Given the description of an element on the screen output the (x, y) to click on. 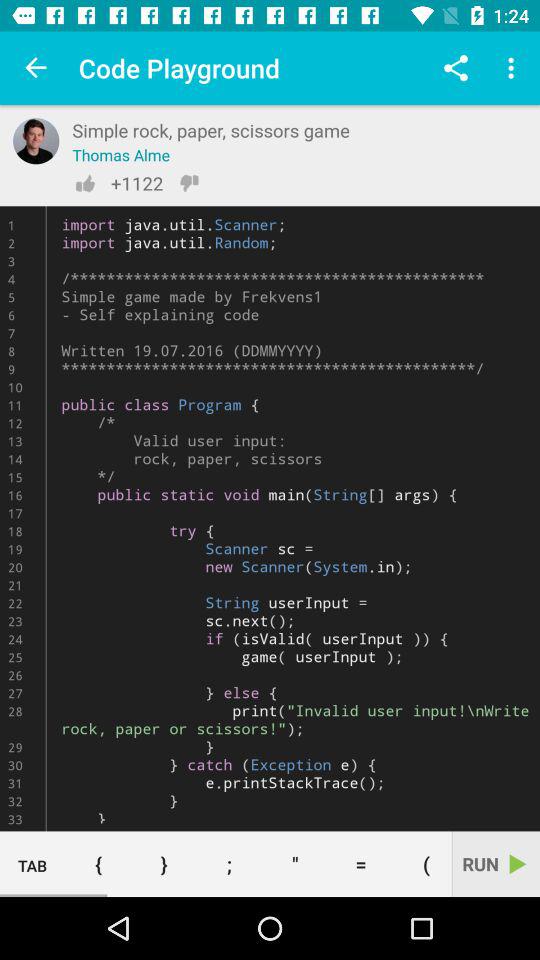
jump to tab (32, 864)
